Given the description of an element on the screen output the (x, y) to click on. 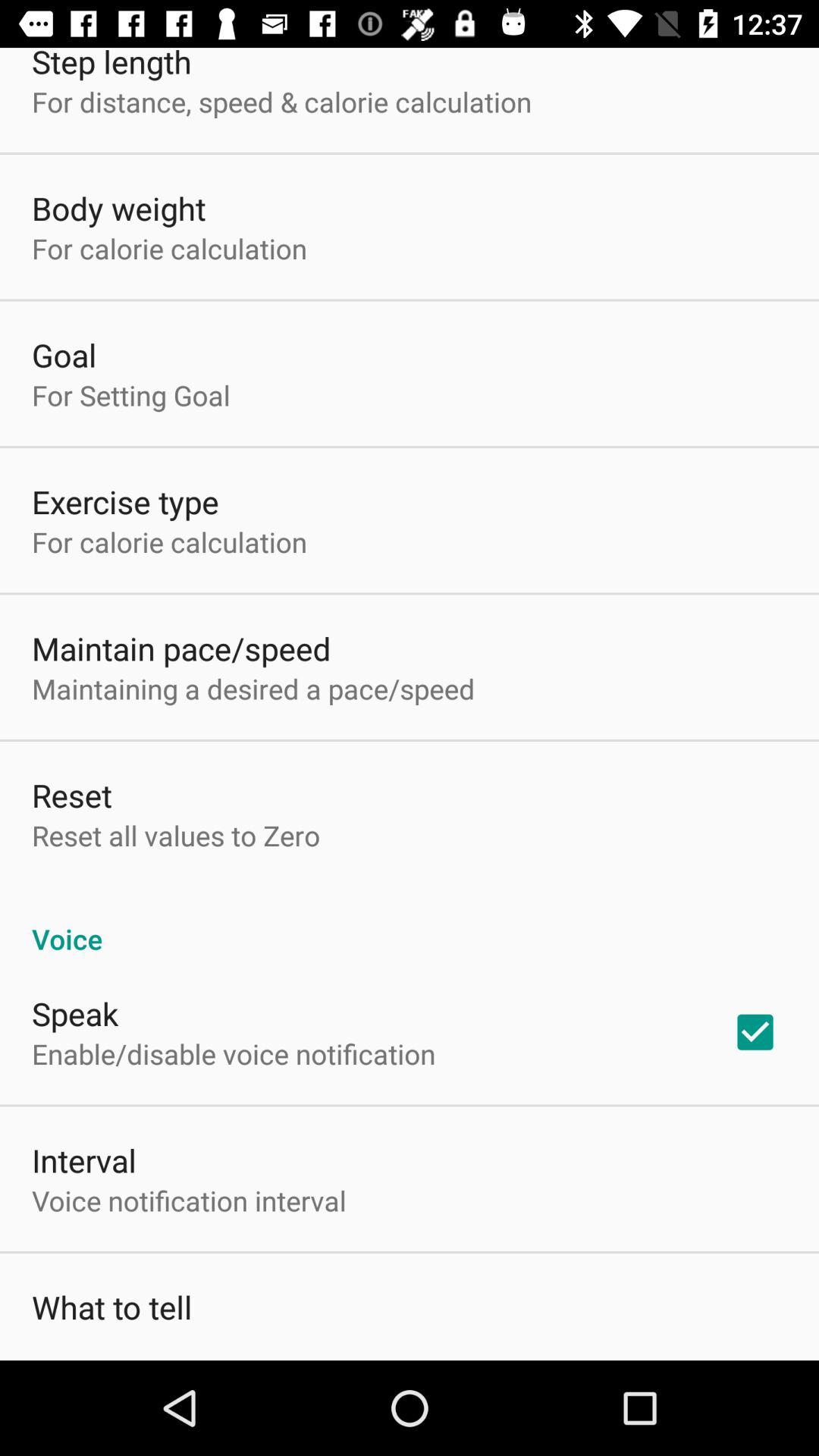
press item above the enable disable voice app (74, 1013)
